Given the description of an element on the screen output the (x, y) to click on. 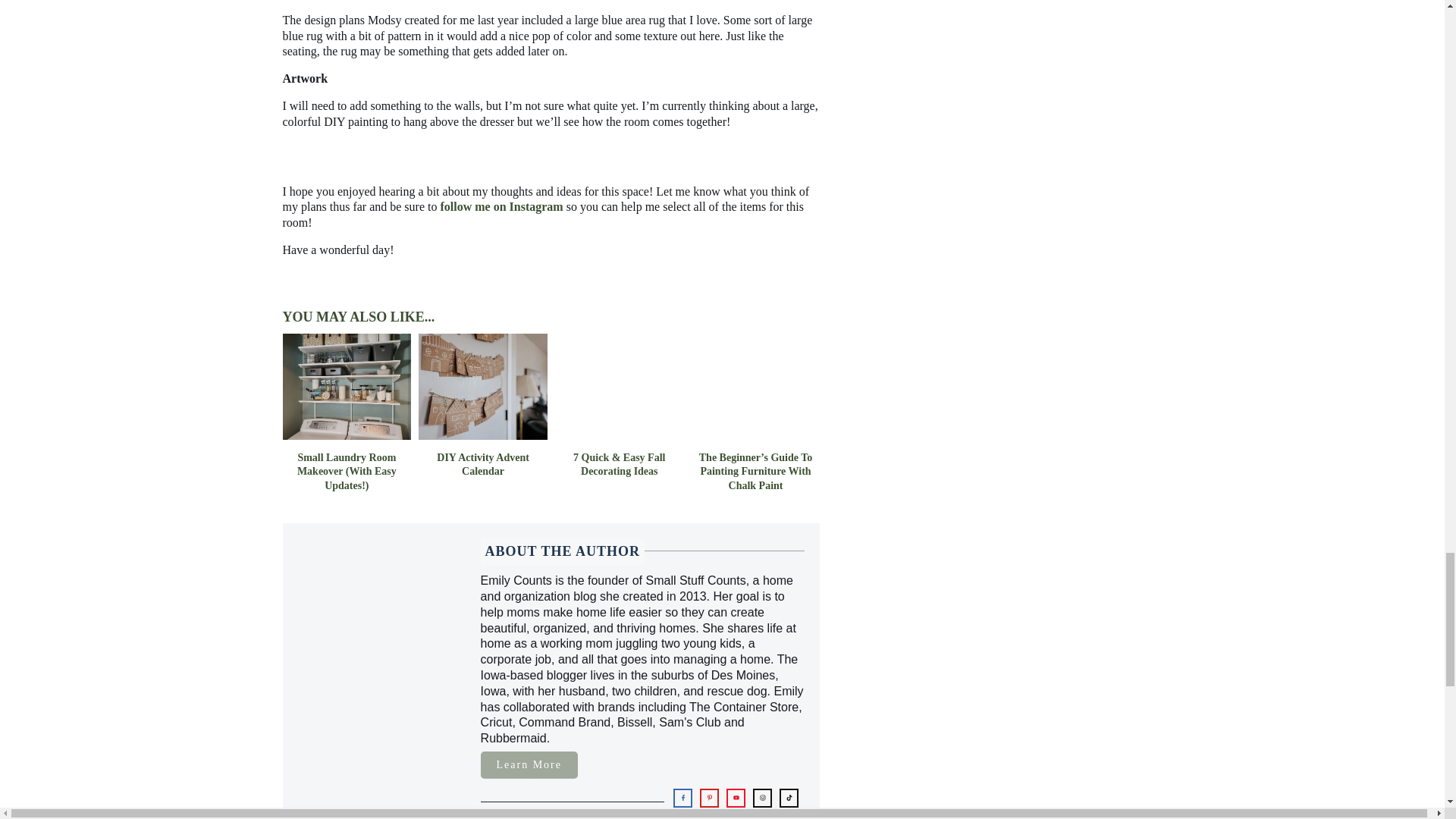
DIY Activity Advent Calendar (482, 464)
